Given the description of an element on the screen output the (x, y) to click on. 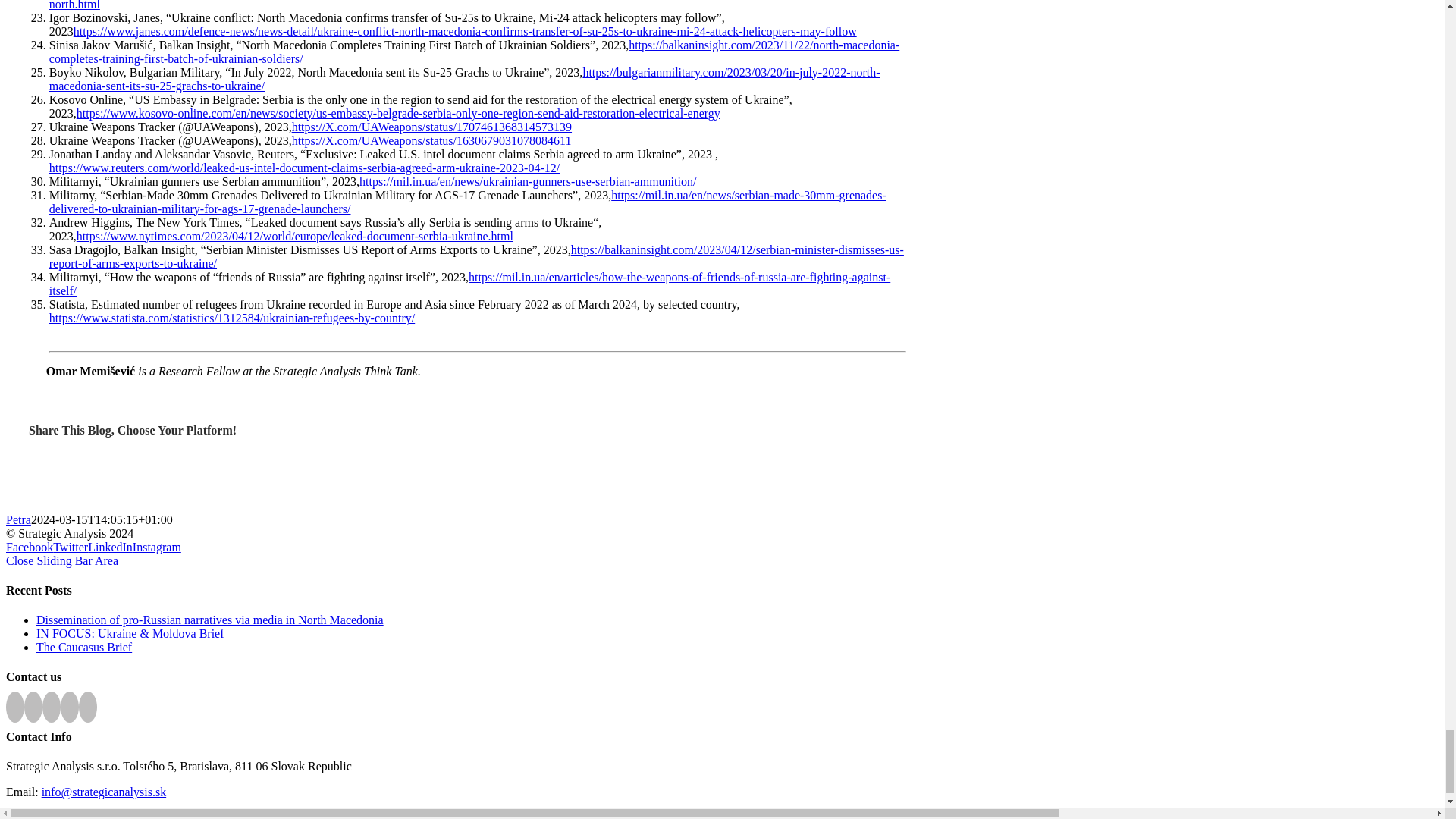
Instagram (156, 546)
Twitter (69, 546)
LinkedIn (109, 546)
Share This Blog, Choose Your Platform! (721, 468)
Facebook (28, 546)
